Given the description of an element on the screen output the (x, y) to click on. 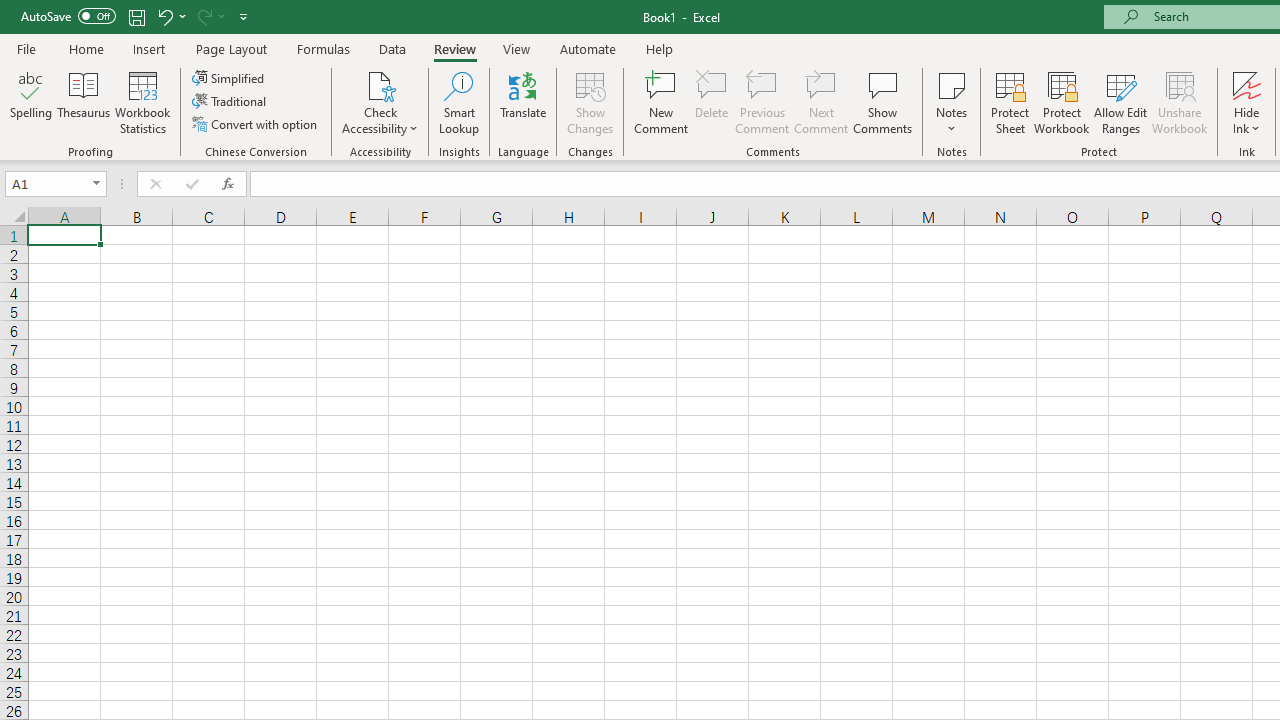
Show Changes (589, 102)
Show Comments (883, 102)
Spelling... (31, 102)
Next Comment (821, 102)
Unshare Workbook (1179, 102)
Workbook Statistics (142, 102)
